Given the description of an element on the screen output the (x, y) to click on. 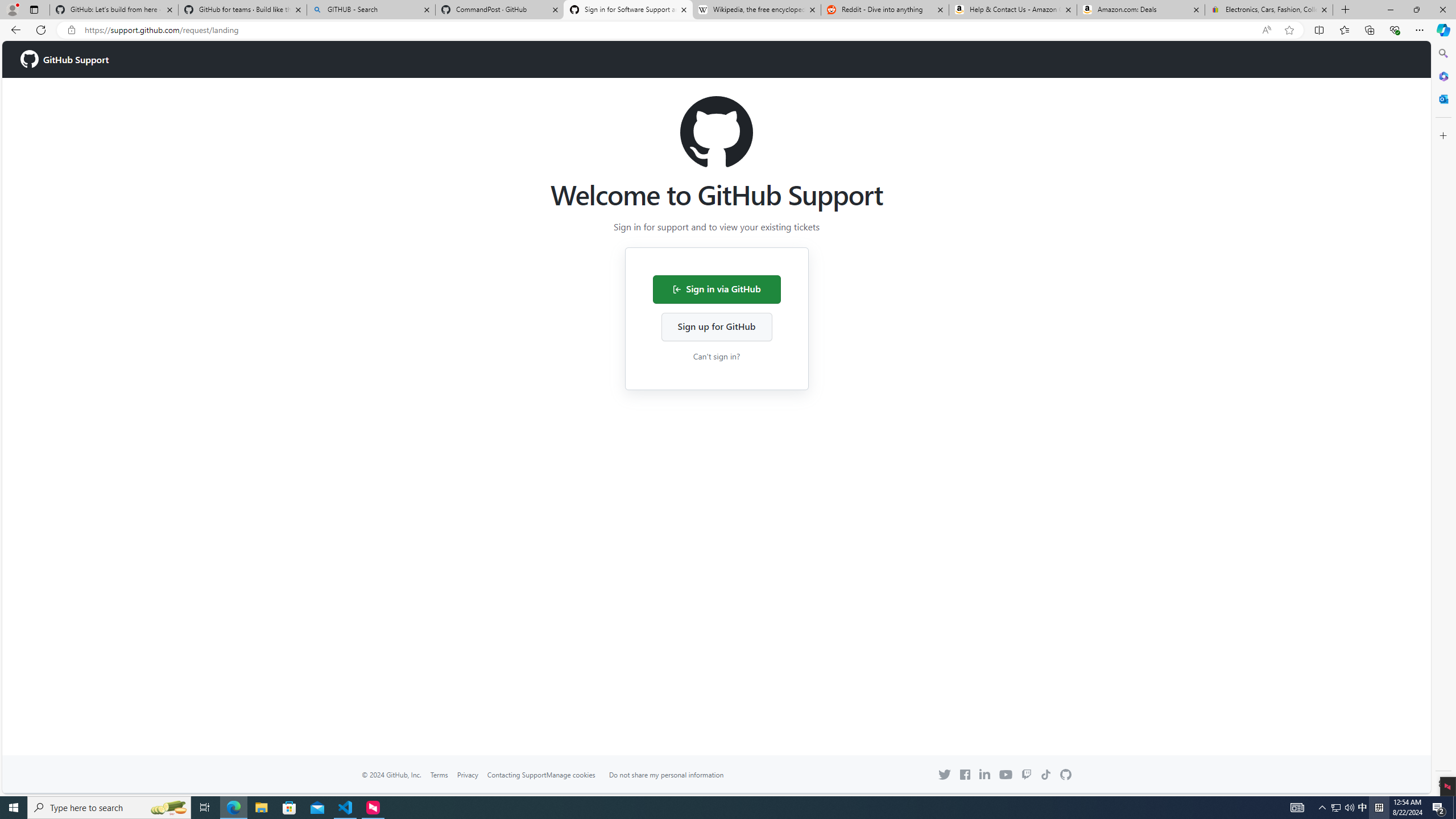
Terms (438, 774)
GITHUB - Search (370, 9)
Twitch icon (1027, 774)
Twitter icon (944, 774)
TikTok icon GitHub on TikTok (1046, 774)
Amazon.com: Deals (1140, 9)
Twitch icon GitHub on Twitch (1027, 774)
